Given the description of an element on the screen output the (x, y) to click on. 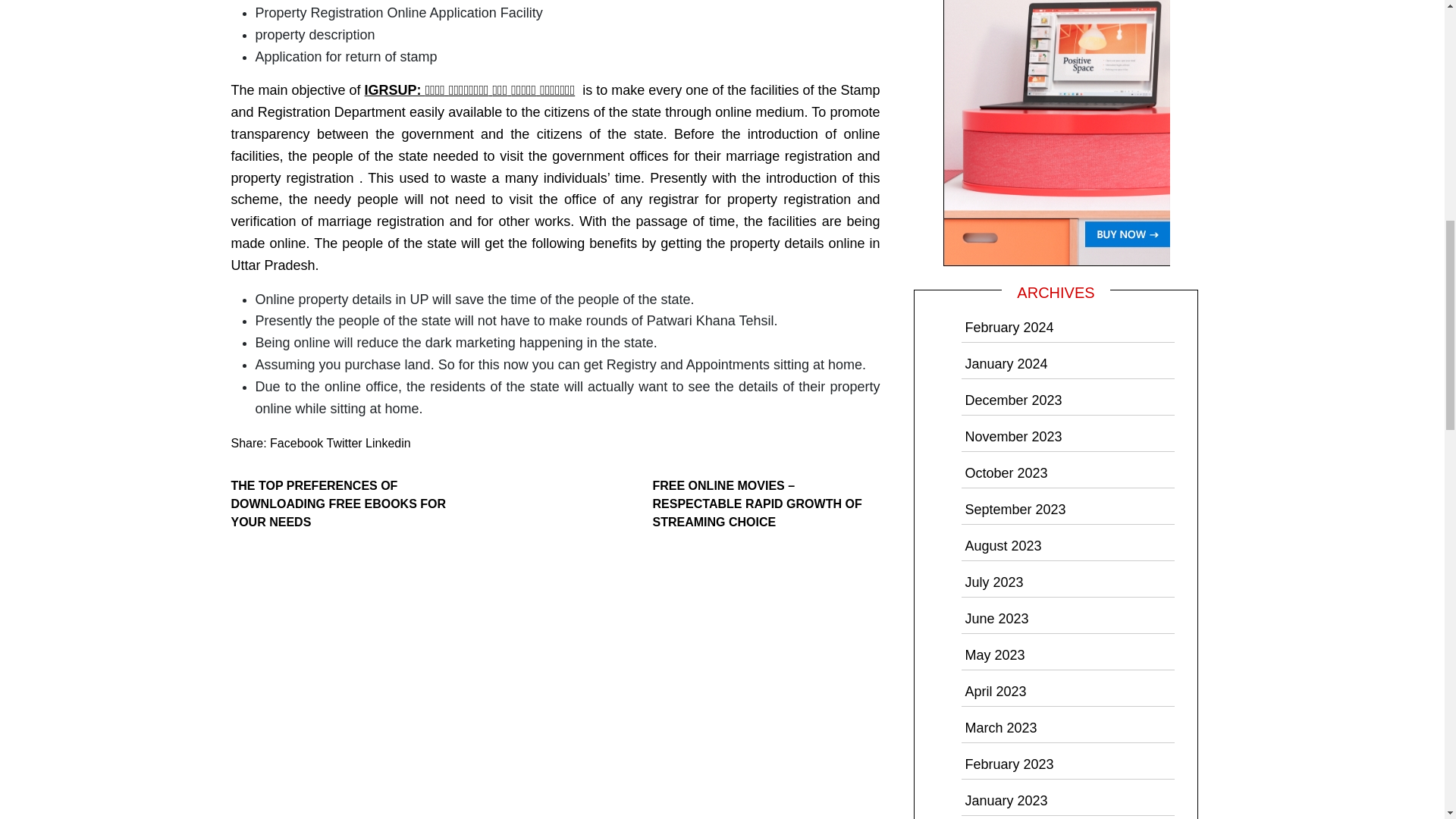
May 2023 (994, 654)
Twitter (344, 442)
February 2023 (1007, 764)
June 2023 (995, 618)
November 2023 (1012, 436)
Linkedin (387, 442)
September 2023 (1014, 509)
July 2023 (993, 581)
April 2023 (994, 691)
Facebook (296, 442)
February 2024 (1007, 327)
January 2024 (1004, 363)
August 2023 (1002, 545)
December 2023 (1012, 400)
